Given the description of an element on the screen output the (x, y) to click on. 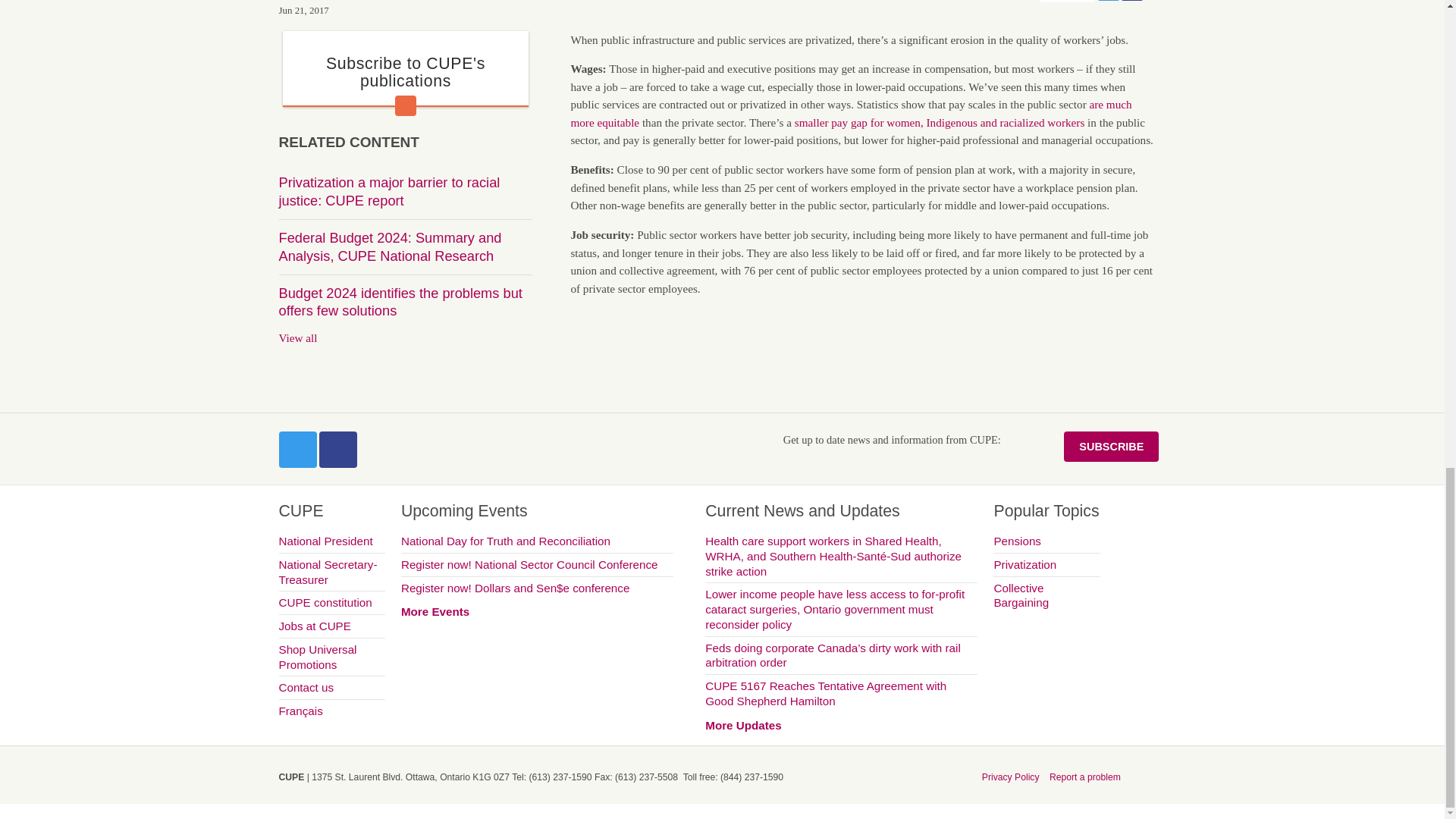
Subscribe to CUPE's publications (405, 72)
Visit our twitter page. (298, 449)
are much more equitable (850, 112)
Privatization a major barrier to racial justice: CUPE report (389, 191)
Budget 2024 identifies the problems but offers few solutions (400, 302)
READ MORE (405, 105)
